Given the description of an element on the screen output the (x, y) to click on. 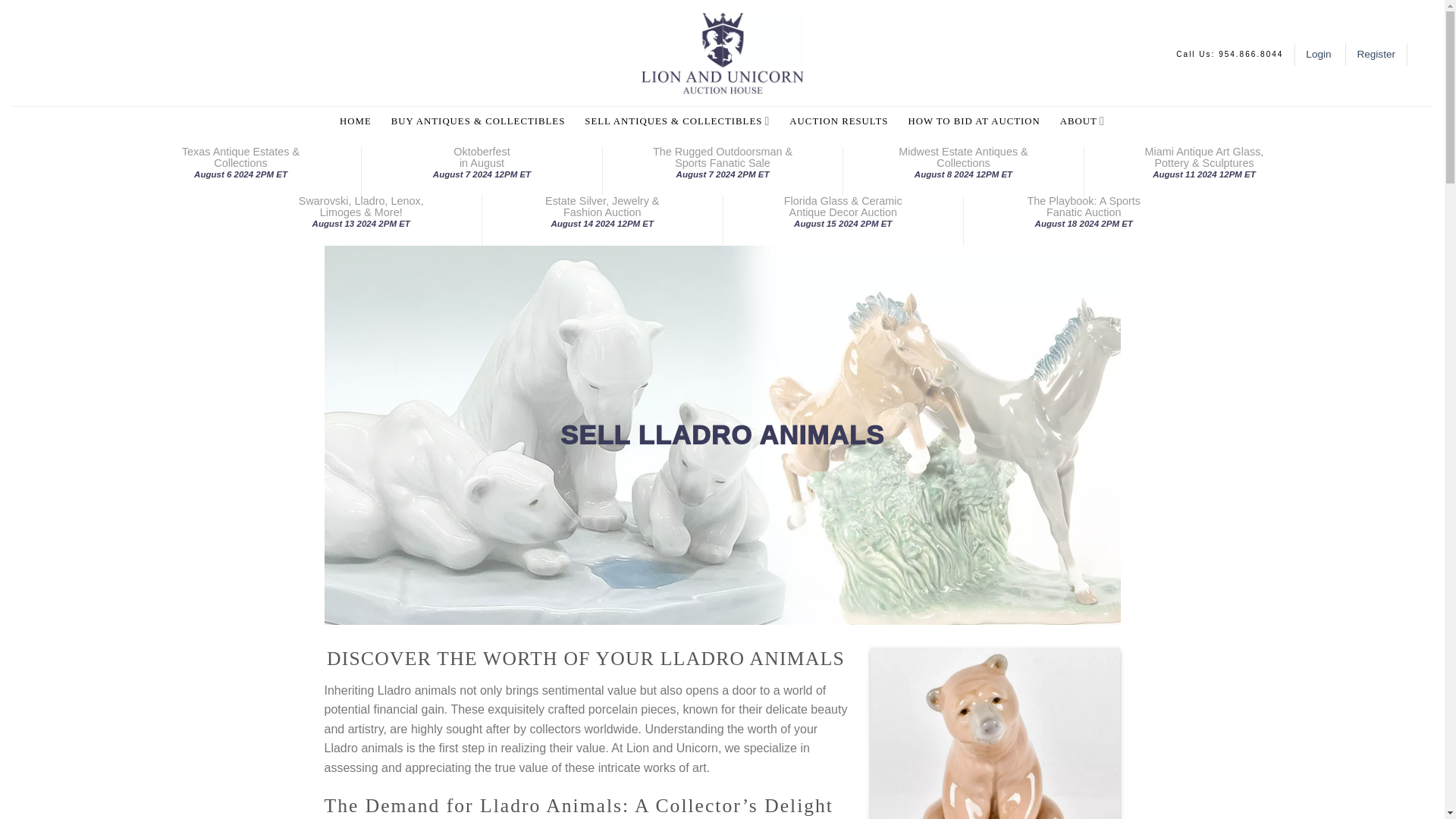
Register (1375, 54)
HOME (355, 121)
Login  (1319, 54)
Call Us: 954.866.8044 (1229, 54)
AUCTION RESULTS (838, 121)
ABOUT (1082, 120)
HOW TO BID AT AUCTION (1083, 205)
